Given the description of an element on the screen output the (x, y) to click on. 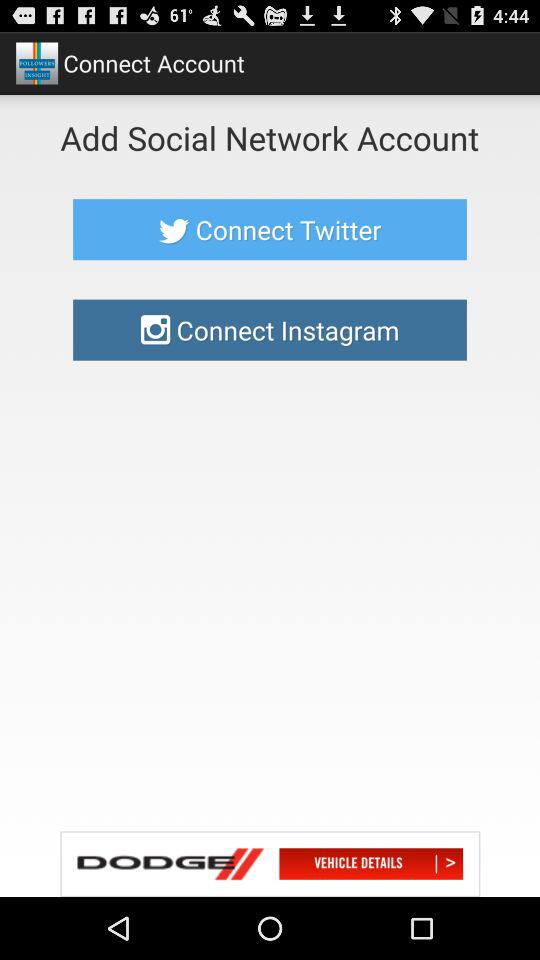
advertisement (270, 864)
